Given the description of an element on the screen output the (x, y) to click on. 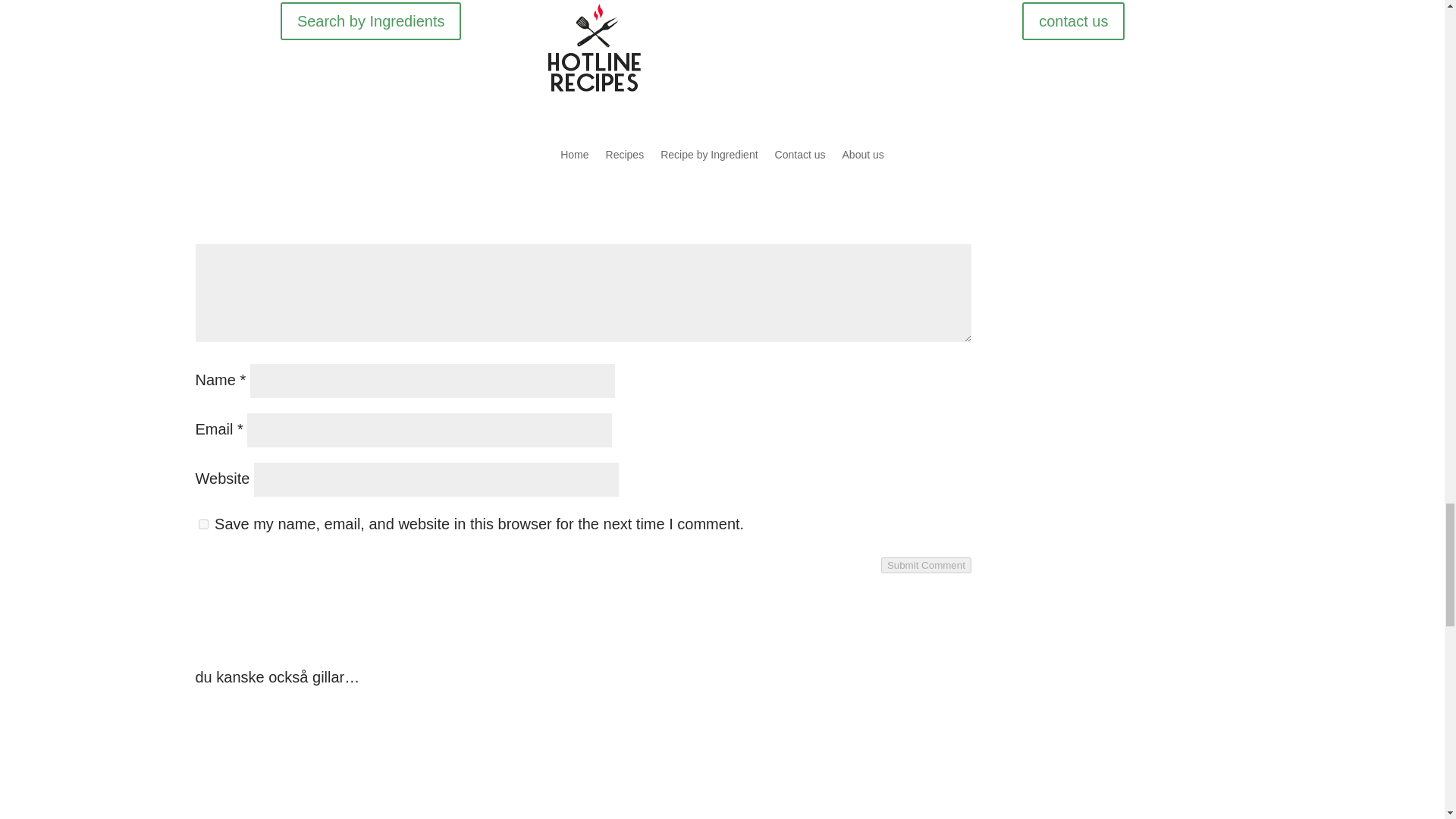
yes (203, 524)
Submit Comment (925, 565)
